Given the description of an element on the screen output the (x, y) to click on. 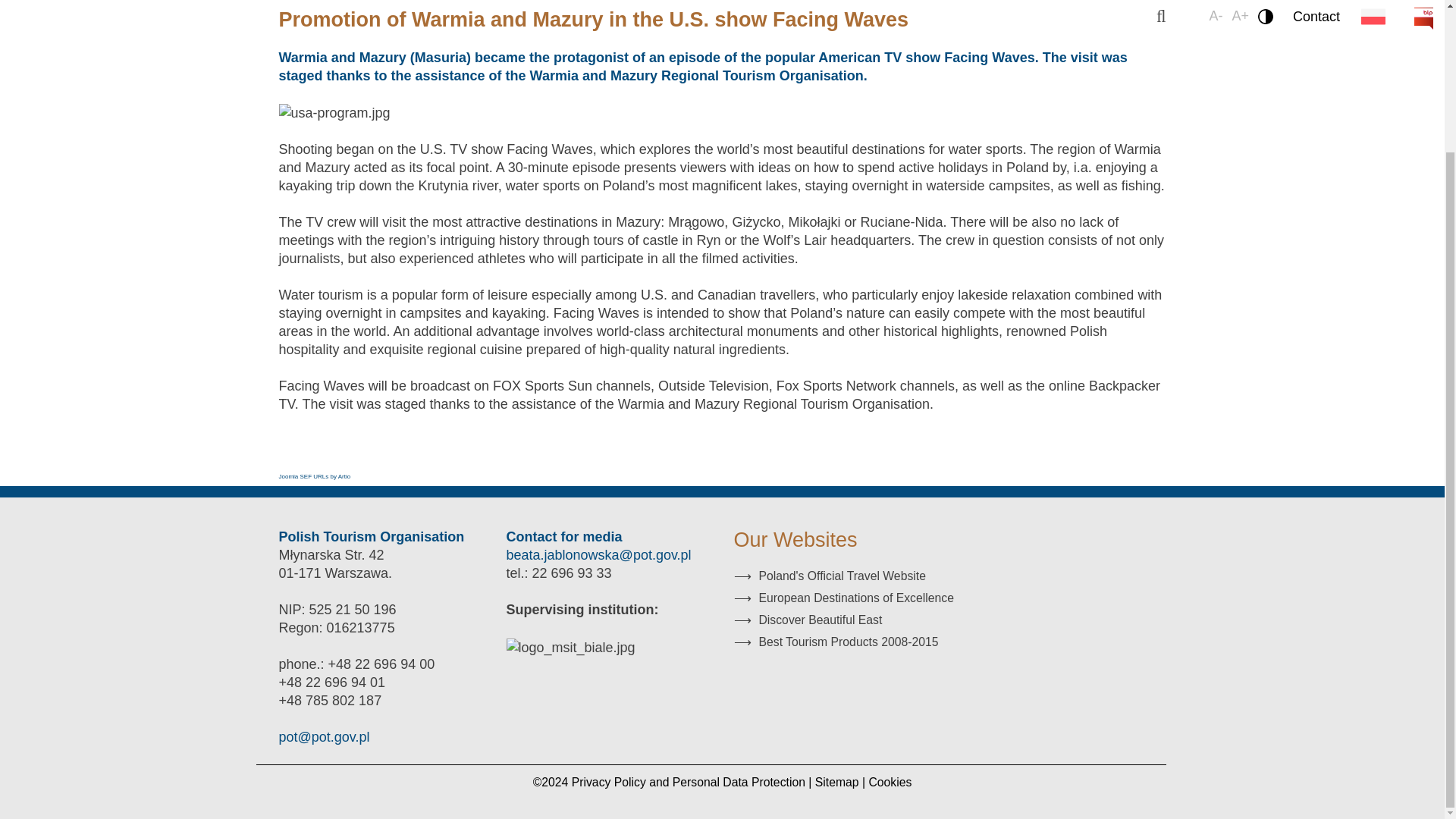
Polska Podaj Dalej - link open in new tab (836, 642)
